Given the description of an element on the screen output the (x, y) to click on. 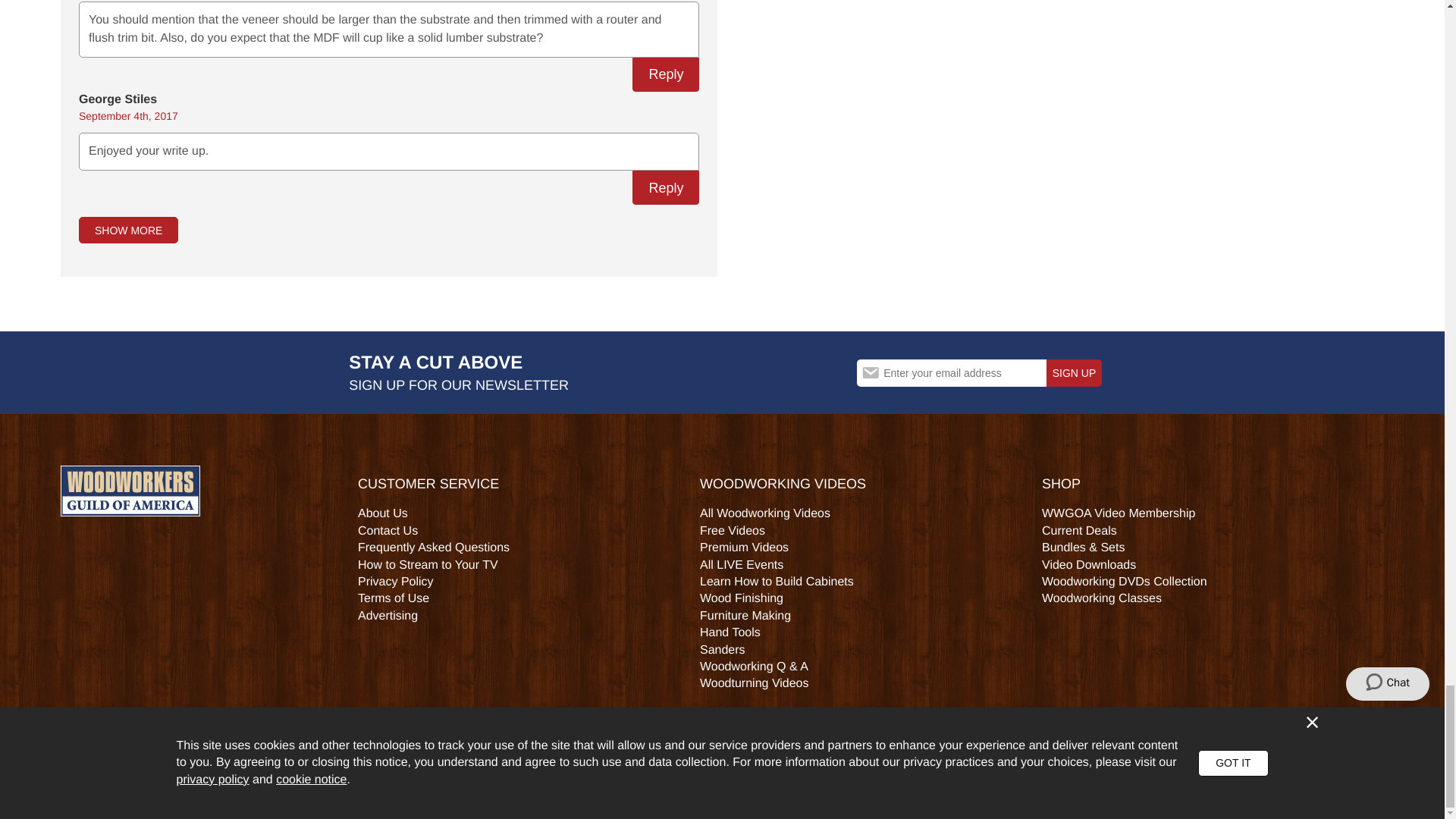
Woodworkers Guild of America logo SVG (130, 490)
Sign Up (1074, 372)
Home (130, 490)
